Given the description of an element on the screen output the (x, y) to click on. 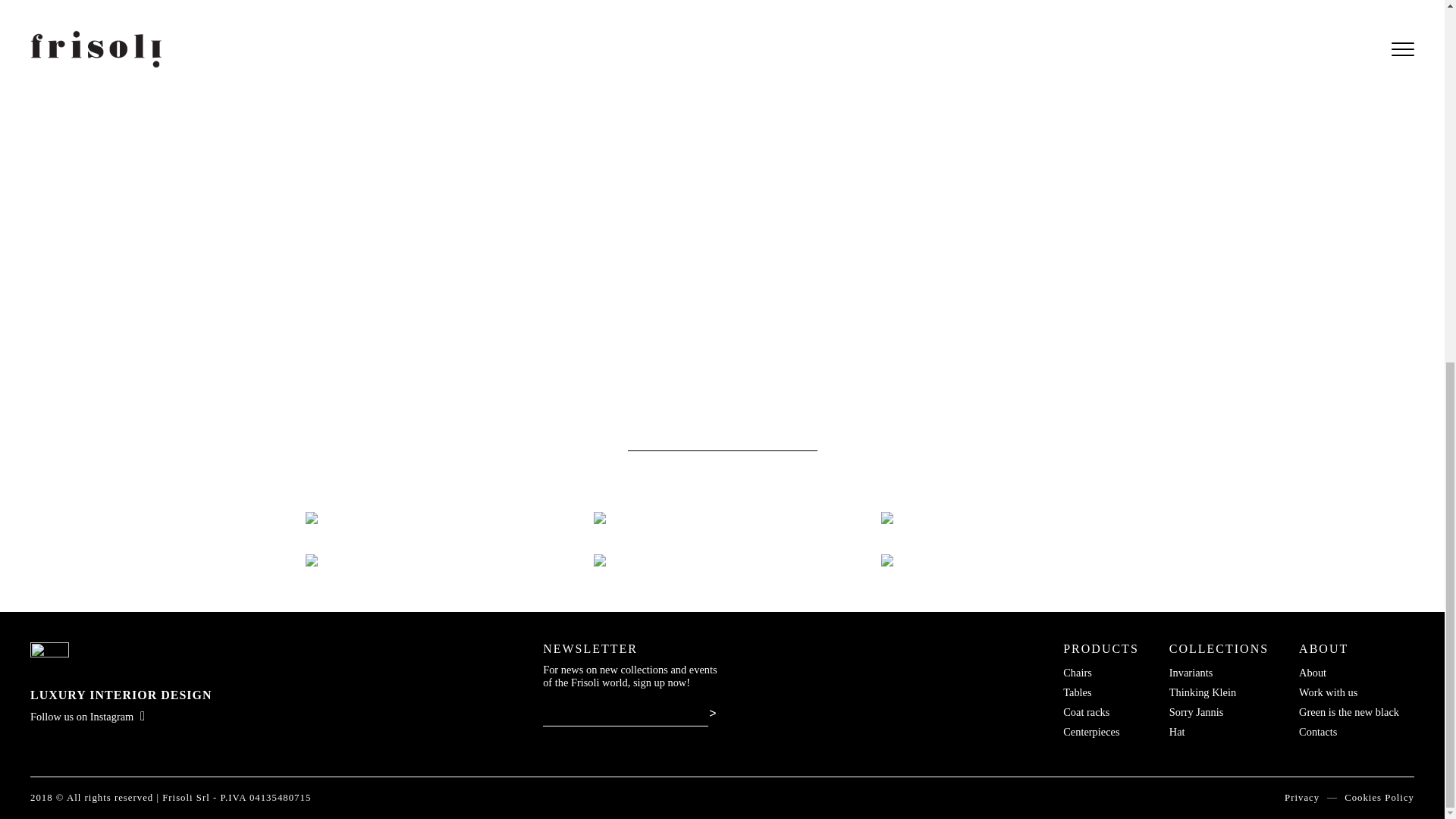
Coat racks (1085, 711)
Green is the new black (1348, 711)
Work with us (1327, 692)
Sorry Jannis (1196, 711)
Contacts (1317, 731)
Invariants (1190, 672)
Hat (1177, 731)
Thinking Klein (1202, 692)
Chairs (1077, 672)
About (1312, 672)
